Given the description of an element on the screen output the (x, y) to click on. 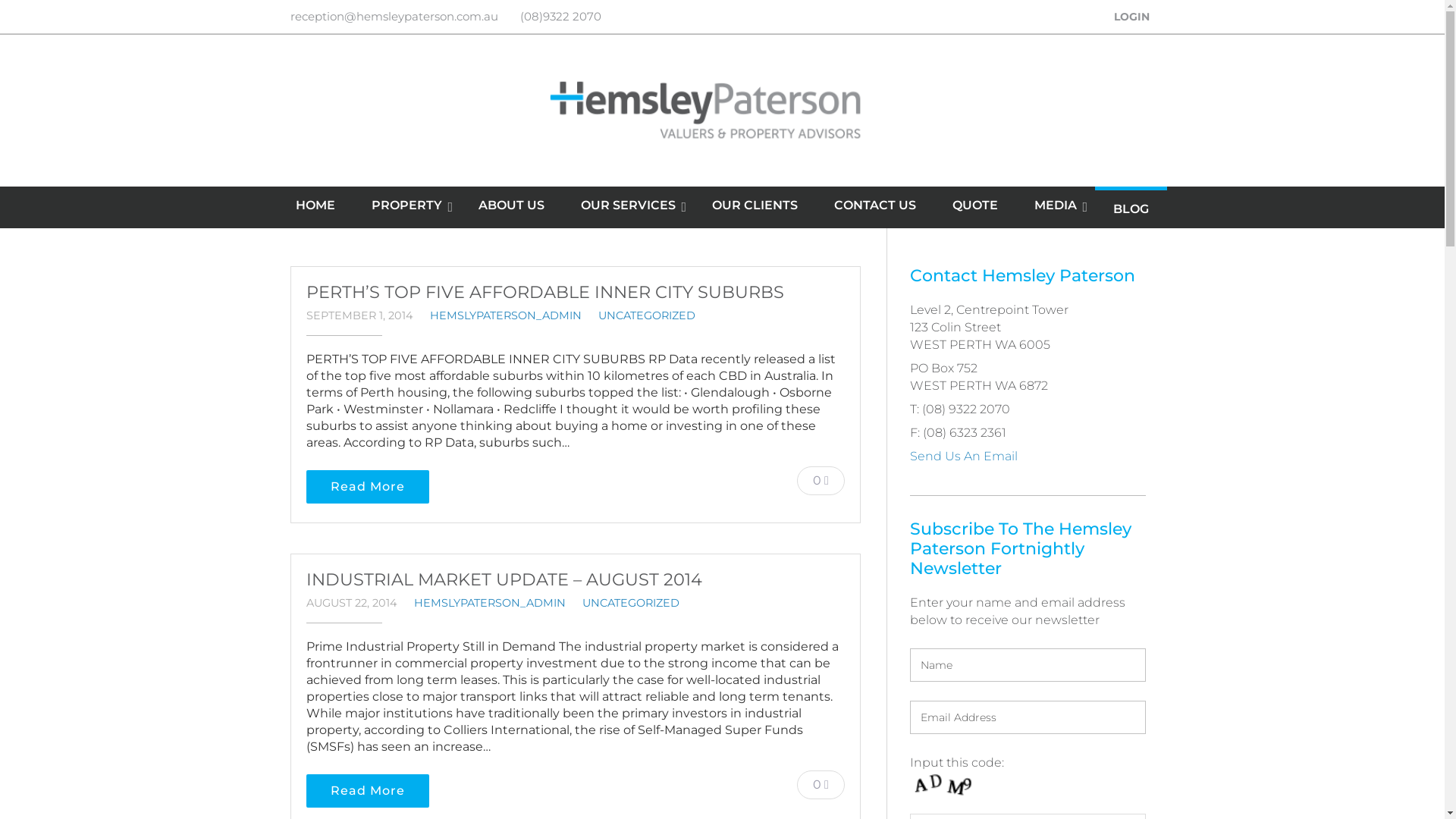
Send Us An Email Element type: text (963, 455)
CONTACT US Element type: text (874, 205)
Read More Element type: text (367, 486)
HOME Element type: text (315, 205)
QUOTE Element type: text (975, 205)
BLOG Element type: text (1131, 209)
0 Element type: text (820, 784)
PROPERTY Element type: text (406, 205)
MEDIA Element type: text (1055, 205)
UNCATEGORIZED Element type: text (630, 602)
OUR SERVICES Element type: text (627, 205)
UNCATEGORIZED Element type: text (645, 315)
(08)9322 2070 Element type: text (560, 16)
OUR CLIENTS Element type: text (754, 205)
reception@hemsleypaterson.com.au Element type: text (393, 16)
LOGIN Element type: text (1130, 16)
ABOUT US Element type: text (511, 205)
HEMSLYPATERSON_ADMIN Element type: text (489, 602)
0 Element type: text (820, 480)
HEMSLYPATERSON_ADMIN Element type: text (504, 315)
Read More Element type: text (367, 790)
